Given the description of an element on the screen output the (x, y) to click on. 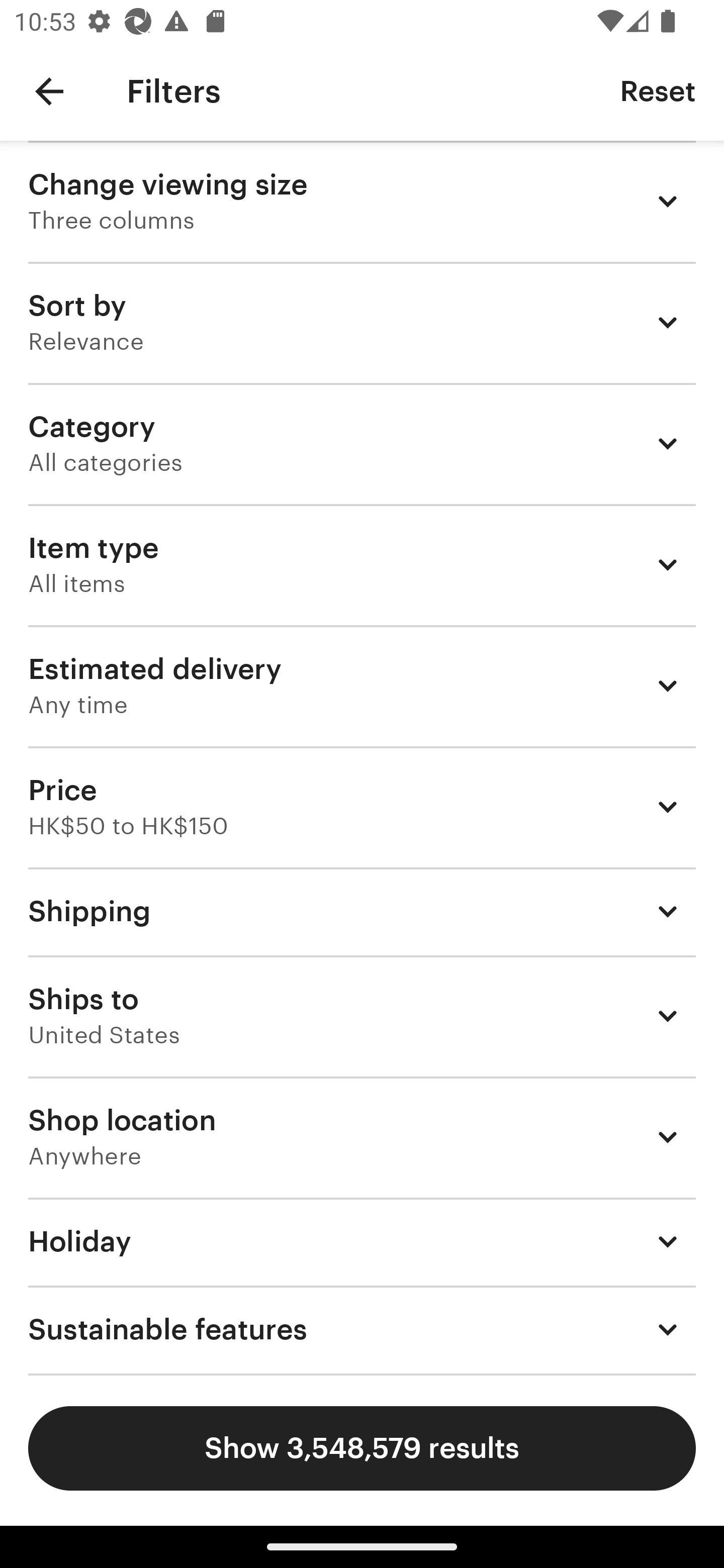
Navigate up (49, 91)
Reset (657, 90)
Change viewing size Three columns (362, 201)
Sort by Relevance (362, 321)
Category All categories (362, 442)
Item type All items (362, 564)
Estimated delivery Any time (362, 685)
Price HK$50 to HK$150 (362, 806)
Shipping (362, 910)
Ships to United States (362, 1015)
Shop location Anywhere (362, 1137)
Holiday (362, 1241)
Sustainable features (362, 1329)
Show 3,548,579 results Show results (361, 1448)
